Given the description of an element on the screen output the (x, y) to click on. 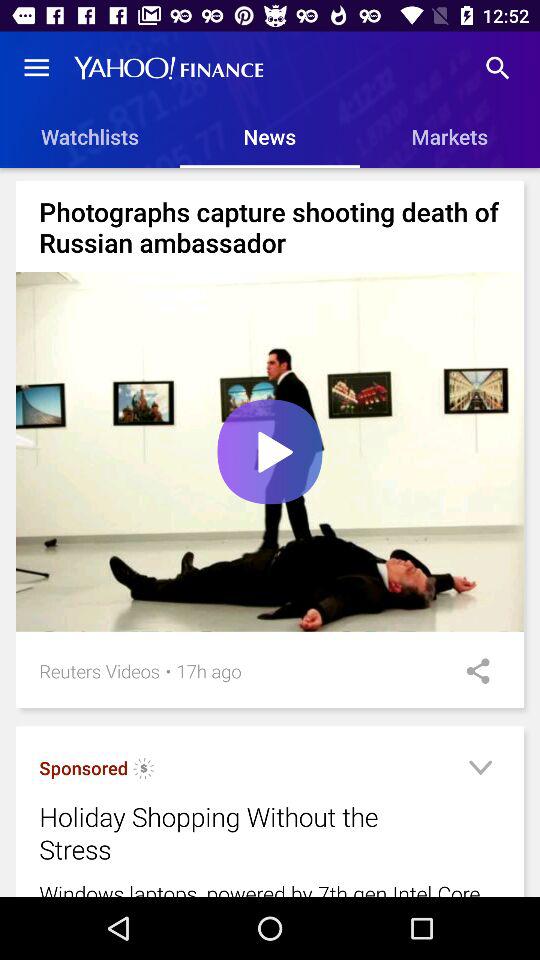
more info (480, 770)
